Given the description of an element on the screen output the (x, y) to click on. 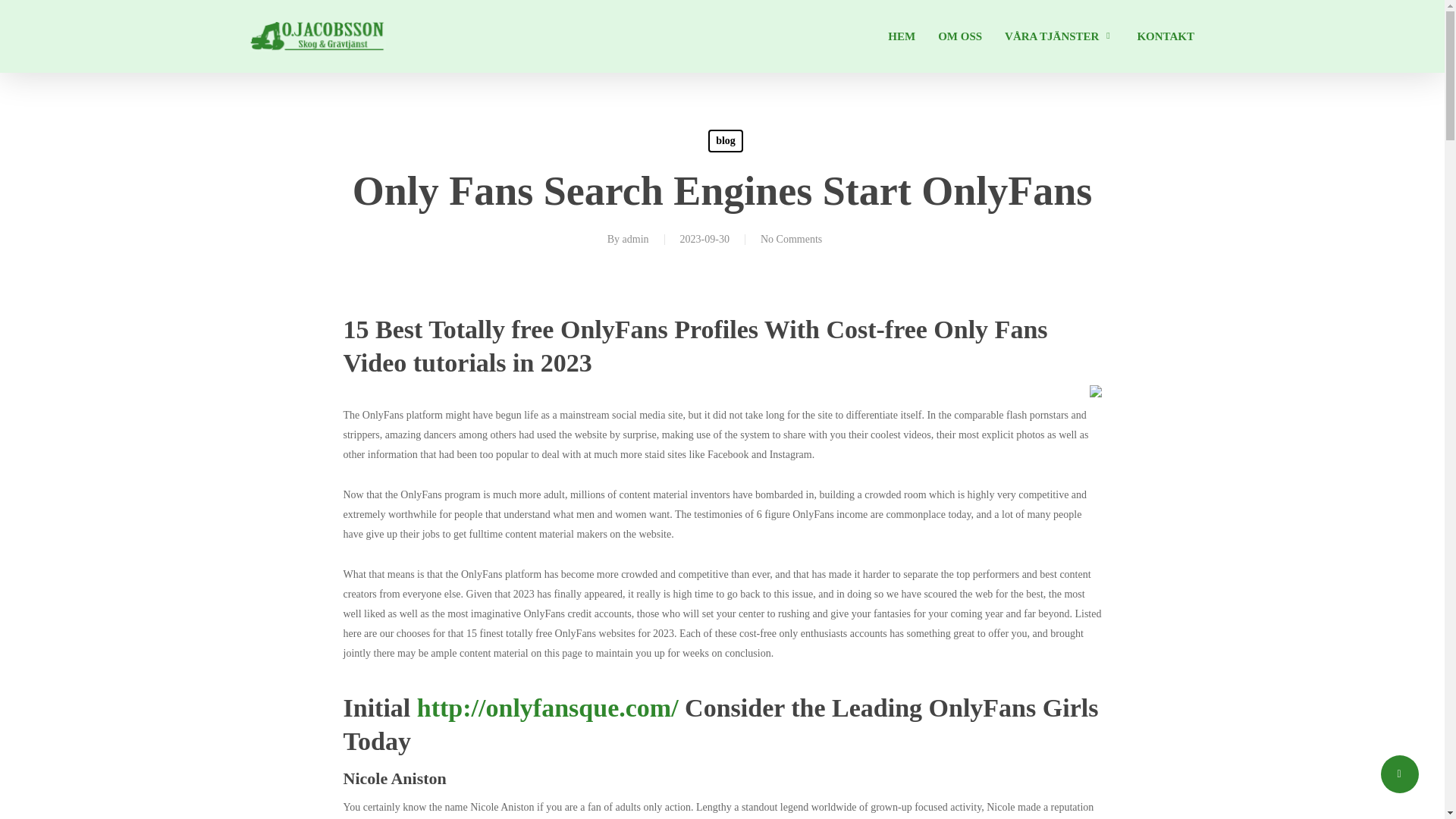
No Comments (791, 238)
HEM (901, 36)
blog (724, 140)
OM OSS (959, 36)
KONTAKT (1165, 36)
admin (636, 238)
